Given the description of an element on the screen output the (x, y) to click on. 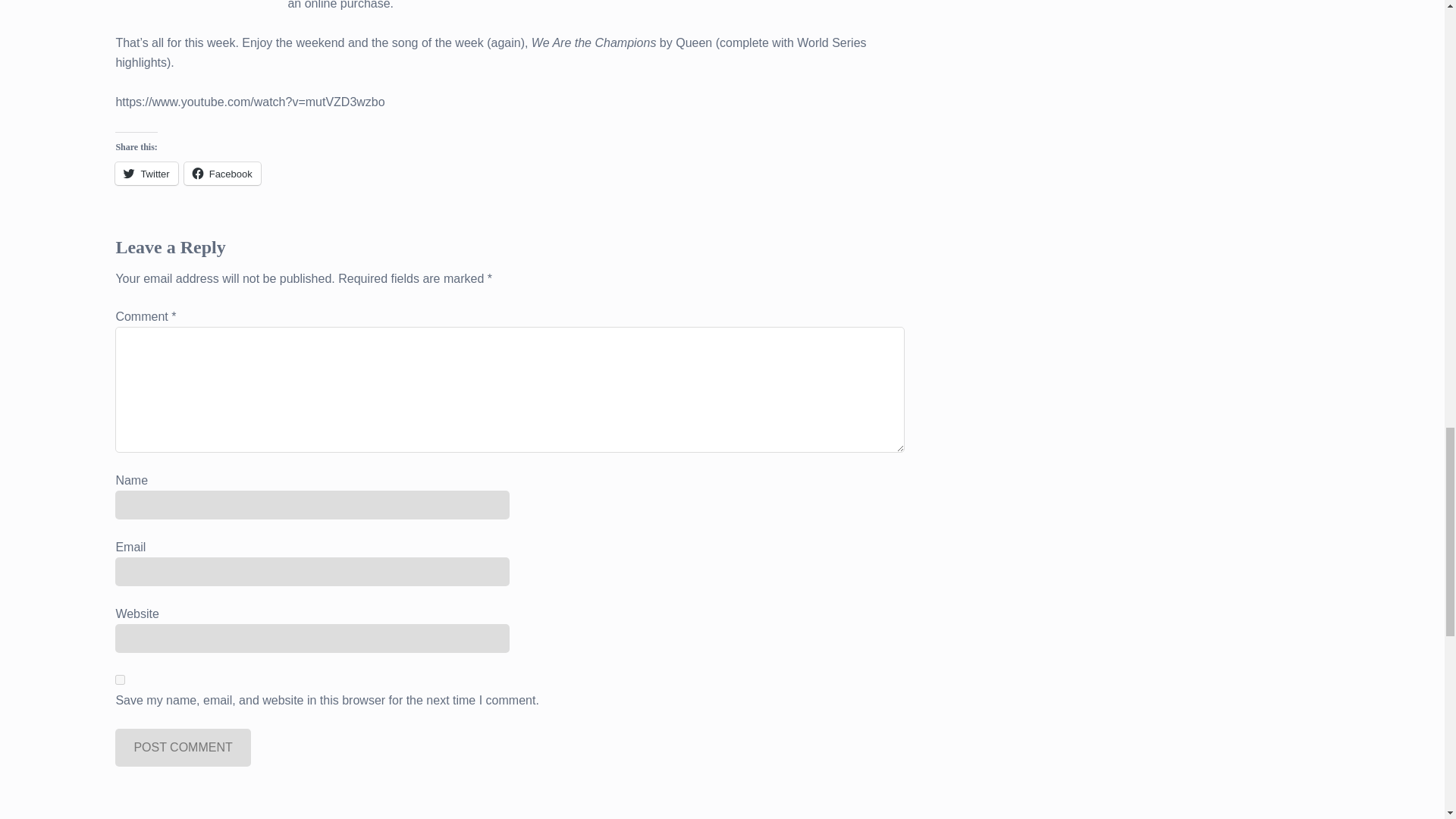
Click to share on Facebook (222, 173)
Post Comment (182, 747)
Click to share on Twitter (146, 173)
yes (120, 679)
